Given the description of an element on the screen output the (x, y) to click on. 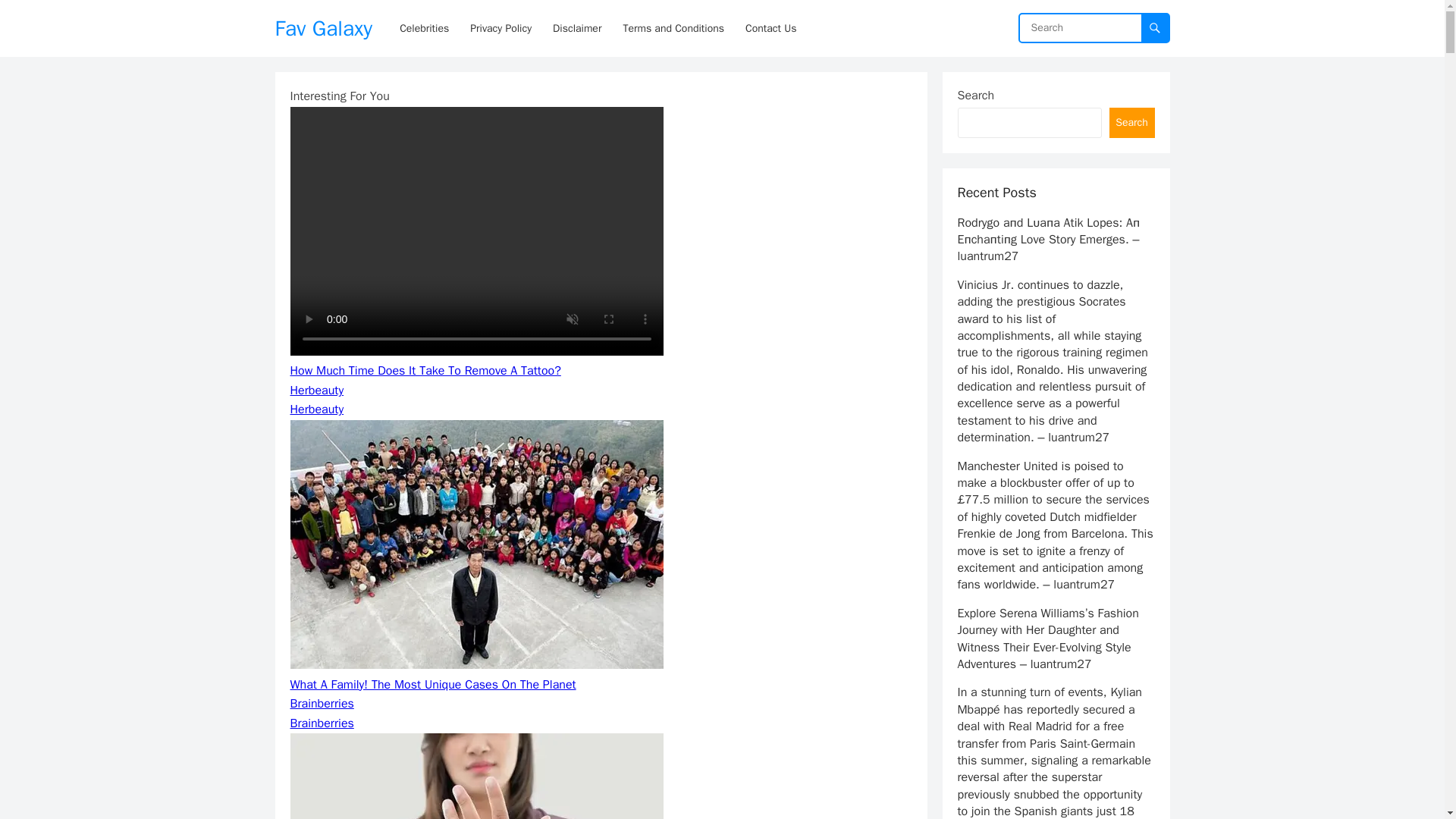
Disclaimer (576, 28)
Fav Galaxy (323, 28)
Celebrities (424, 28)
Terms and Conditions (672, 28)
Contact Us (770, 28)
Privacy Policy (500, 28)
